Given the description of an element on the screen output the (x, y) to click on. 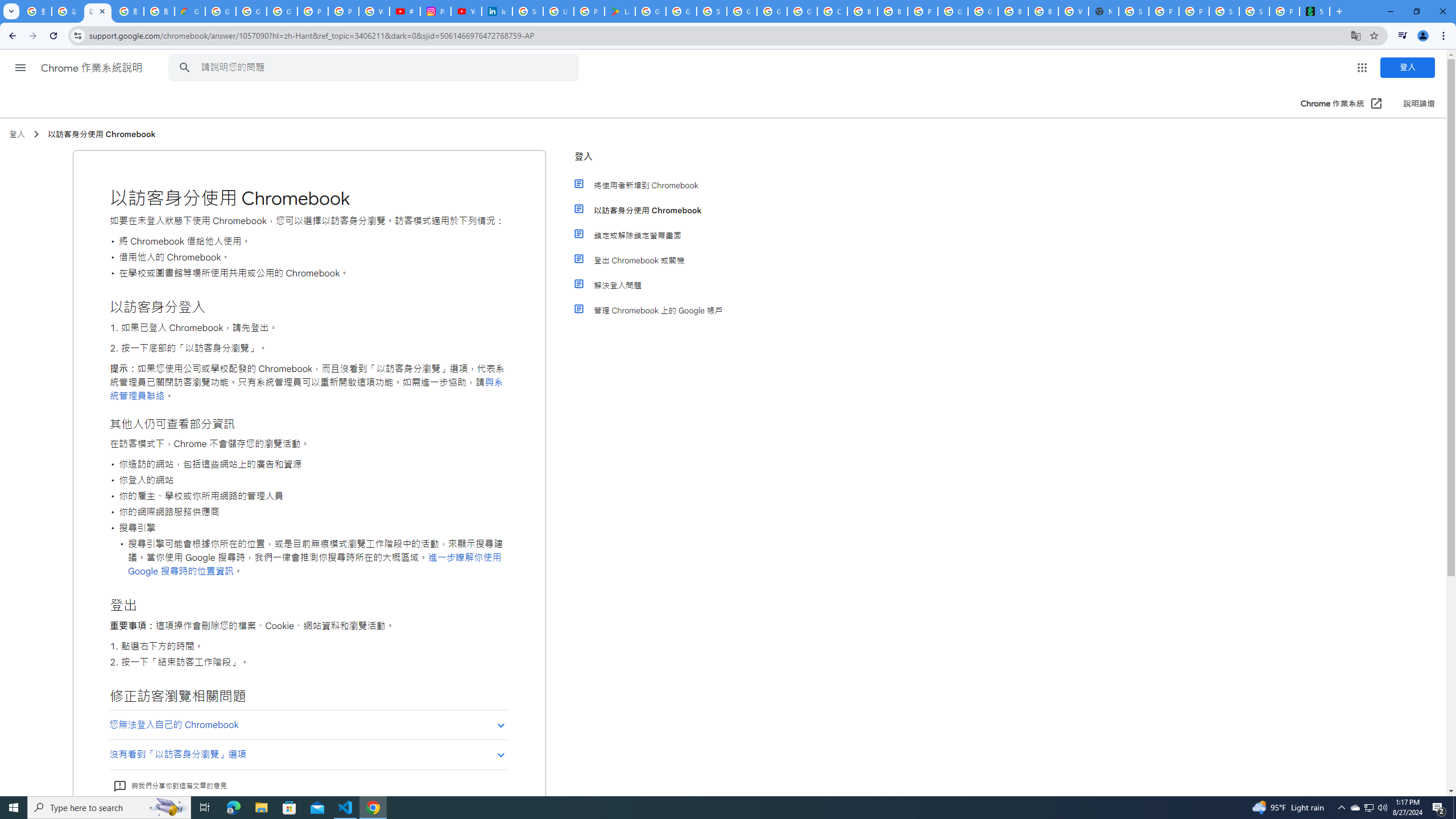
Google Workspace - Specific Terms (681, 11)
Google Cloud Platform (952, 11)
YouTube Culture & Trends - On The Rise: Handcam Videos (465, 11)
Google Cloud Platform (982, 11)
